Given the description of an element on the screen output the (x, y) to click on. 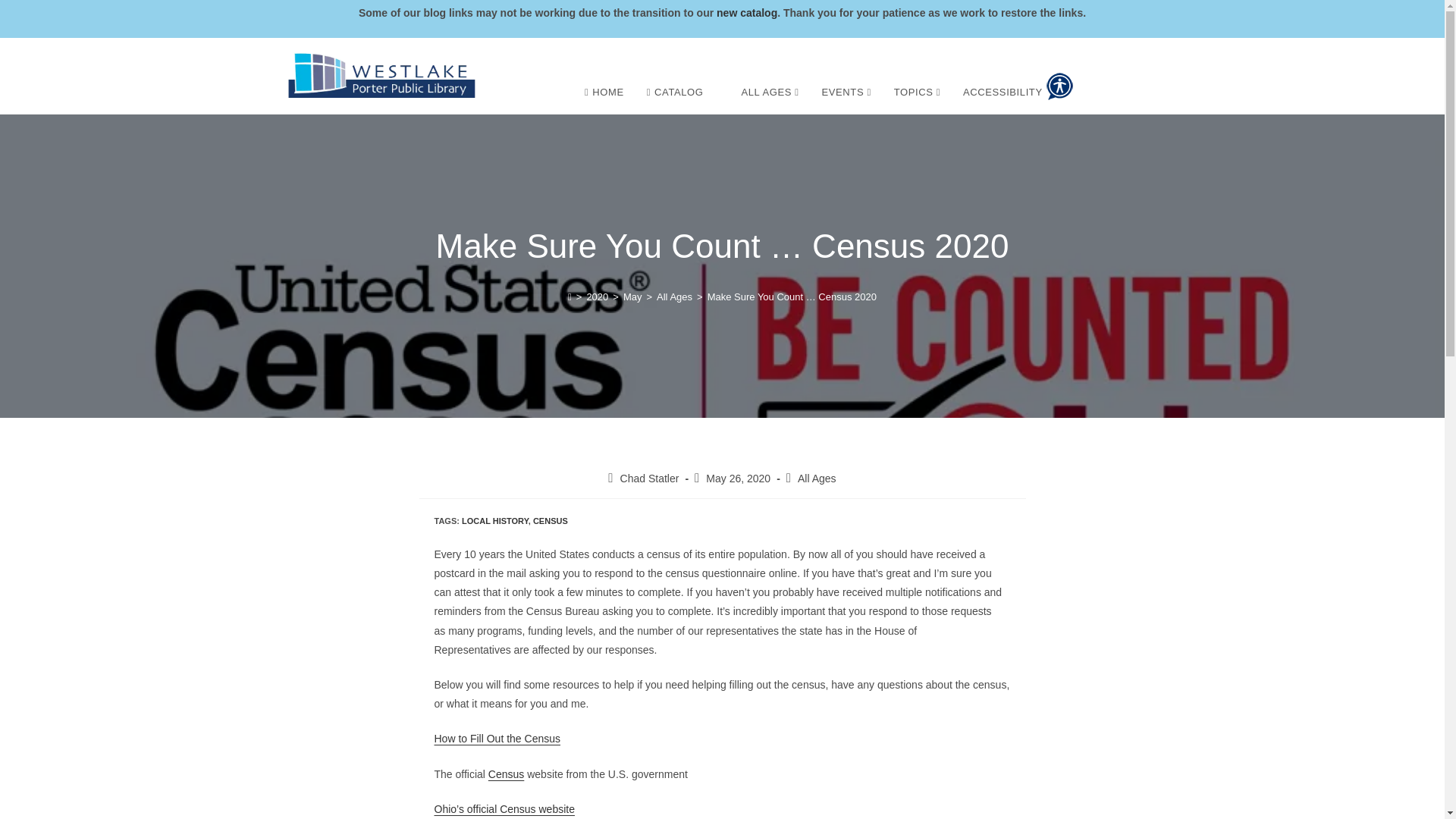
new catalog (746, 12)
TOPICS (917, 92)
EVENTS (846, 92)
Posts by Chad Statler (649, 478)
Go to WPPL's main website (380, 75)
HOME (603, 92)
ALL AGES (769, 92)
CATALOG (674, 92)
ACCESSIBILITY  (1018, 86)
